Given the description of an element on the screen output the (x, y) to click on. 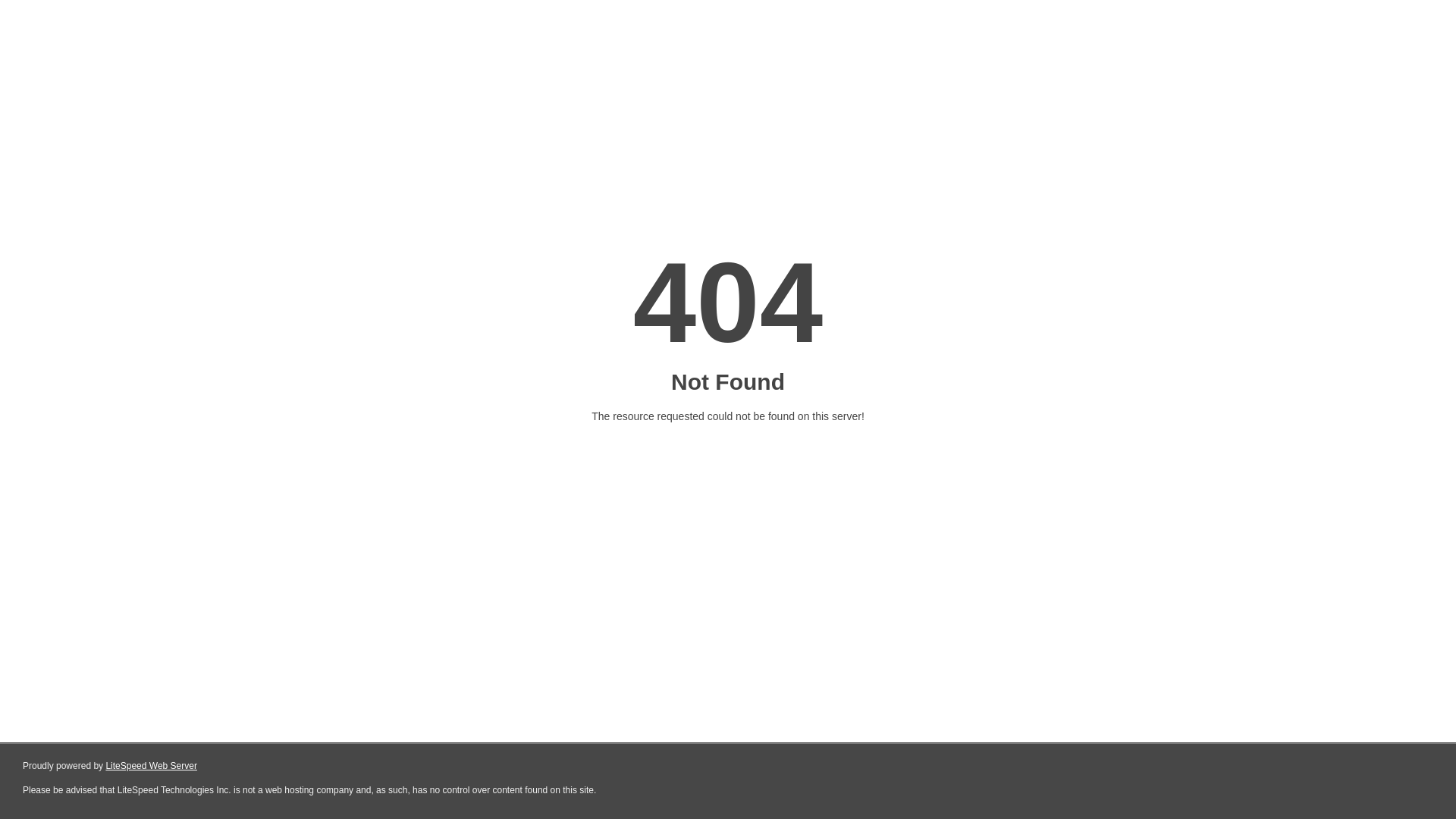
LiteSpeed Web Server Element type: text (151, 765)
